Given the description of an element on the screen output the (x, y) to click on. 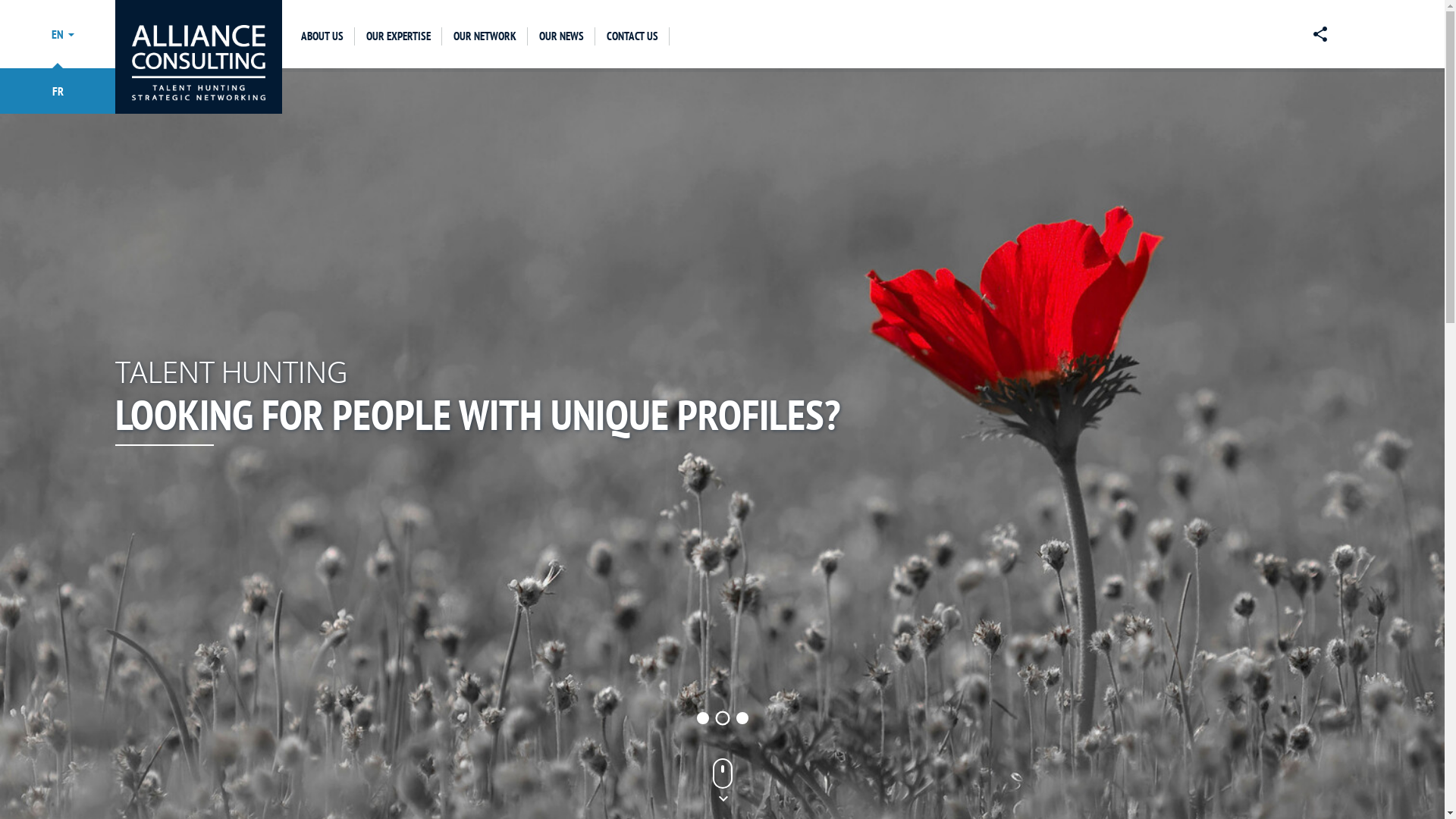
1 Element type: text (701, 716)
CONTACT US Element type: text (632, 36)
2 Element type: text (721, 717)
OUR EXPERTISE Element type: text (398, 36)
OUR NEWS Element type: text (561, 36)
FR Element type: text (57, 90)
ABOUT US Element type: text (321, 36)
3 Element type: text (741, 718)
OUR NETWORK Element type: text (484, 36)
